Given the description of an element on the screen output the (x, y) to click on. 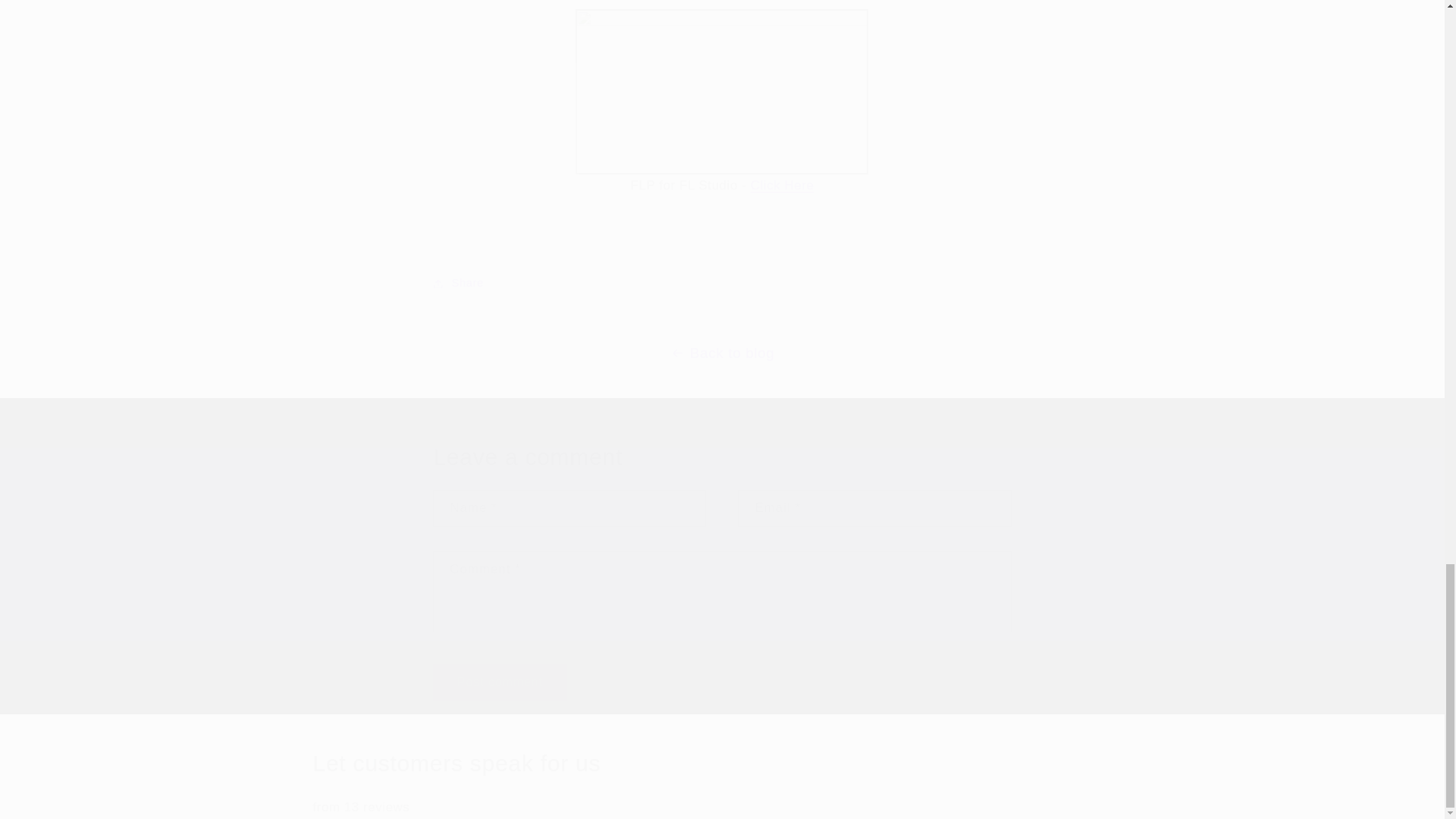
Click Here (782, 185)
Post comment (499, 682)
Post comment (499, 682)
Share (721, 283)
